Given the description of an element on the screen output the (x, y) to click on. 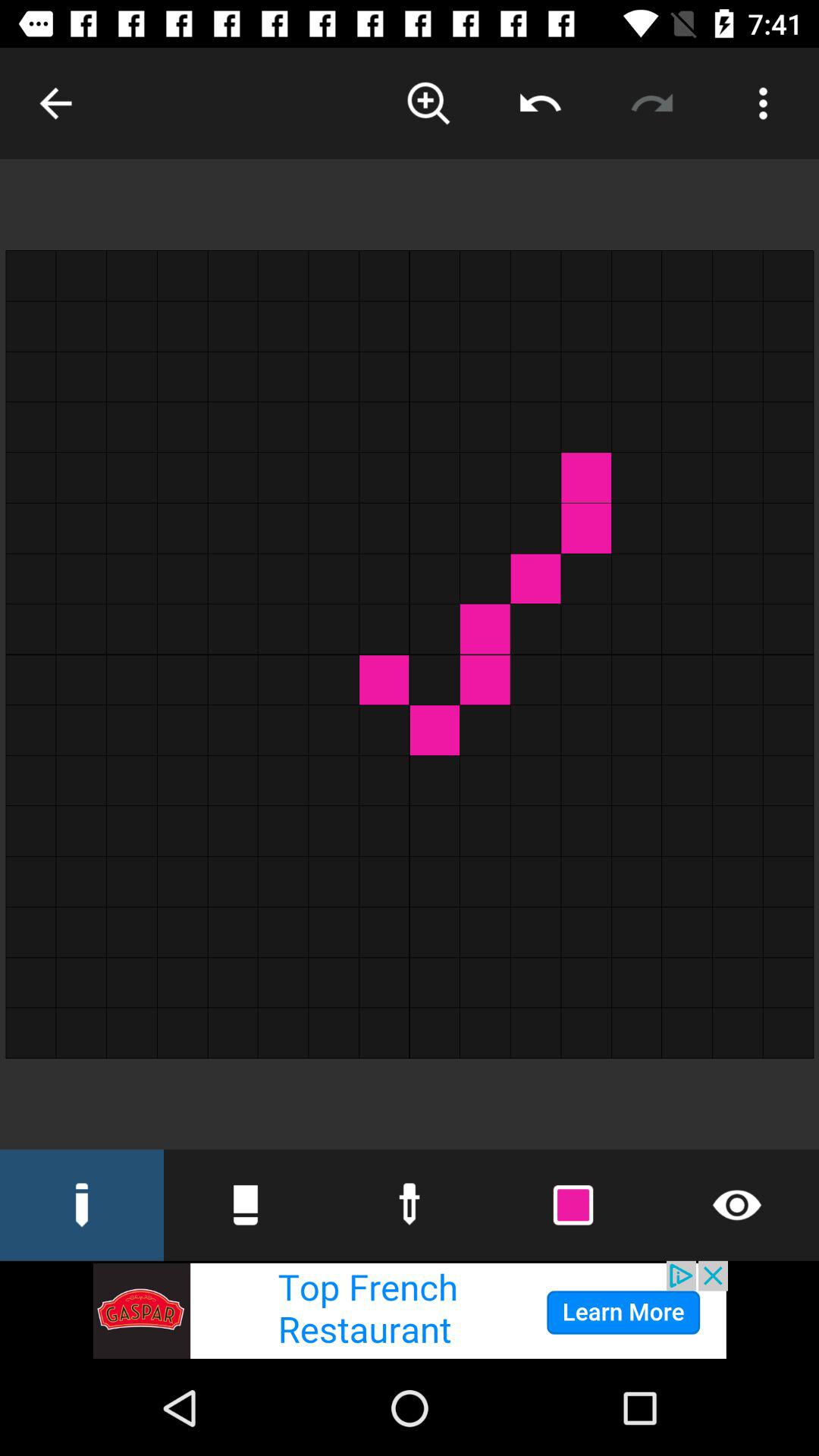
parameter button (763, 103)
